Given the description of an element on the screen output the (x, y) to click on. 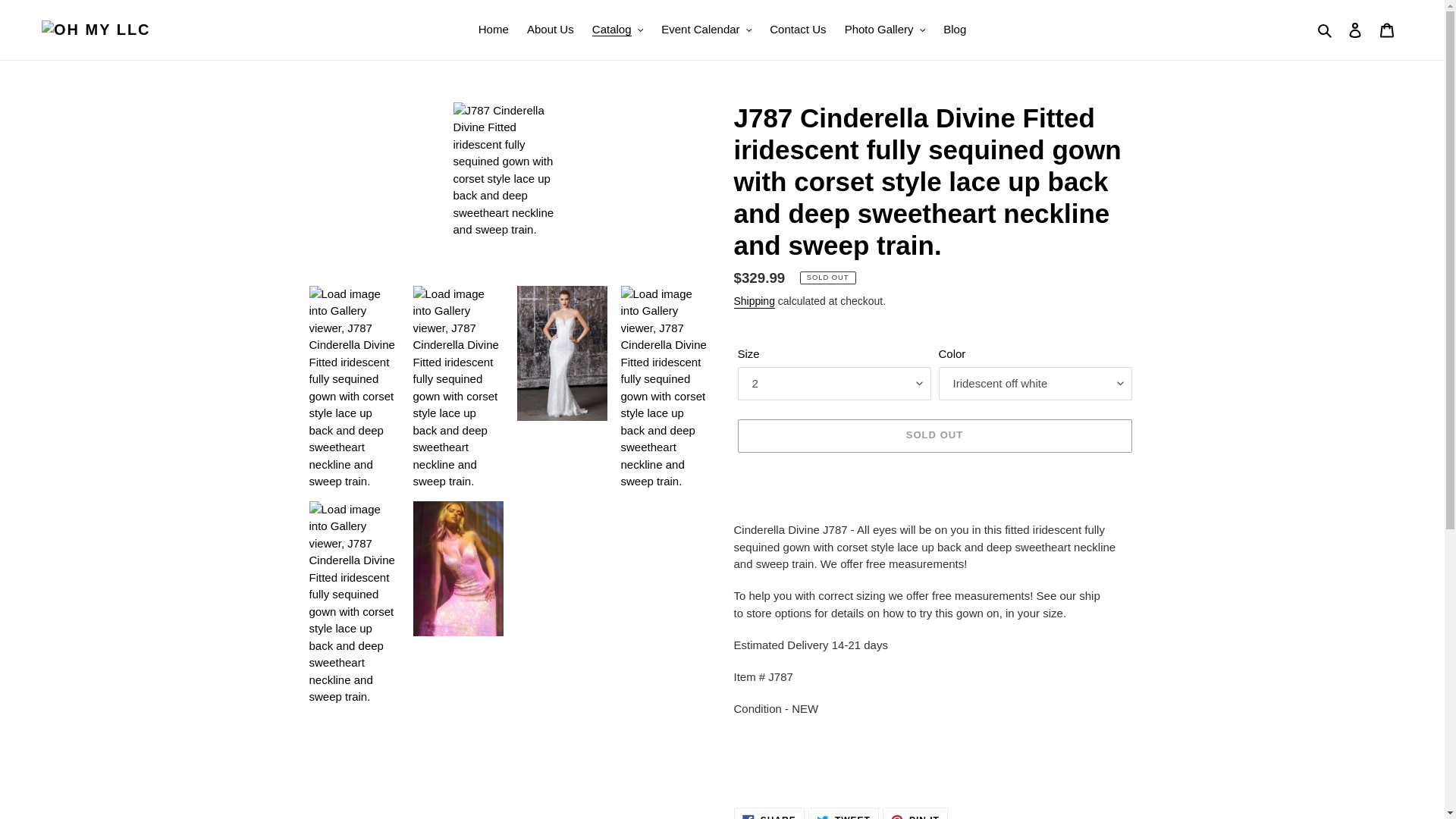
Home (493, 29)
Catalog (617, 29)
About Us (549, 29)
